Given the description of an element on the screen output the (x, y) to click on. 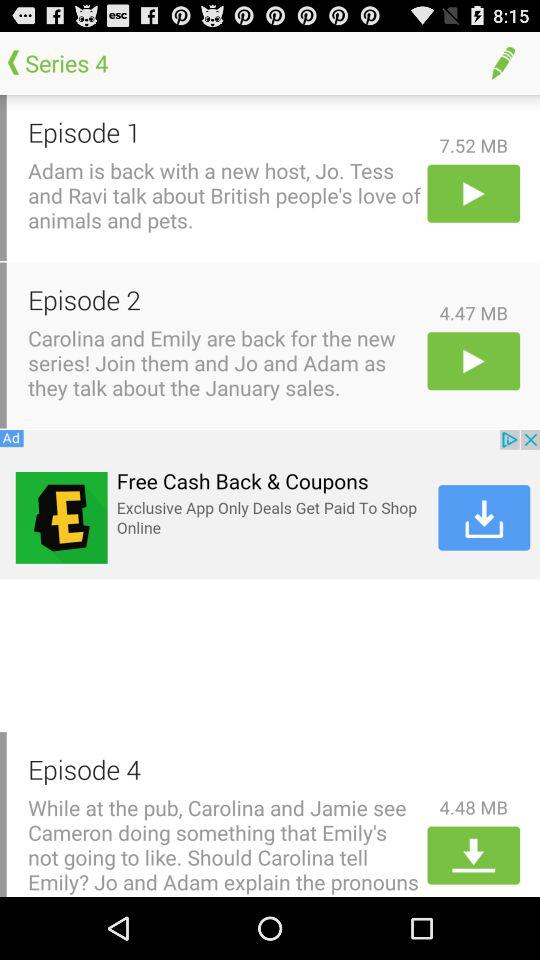
play episode (473, 360)
